Given the description of an element on the screen output the (x, y) to click on. 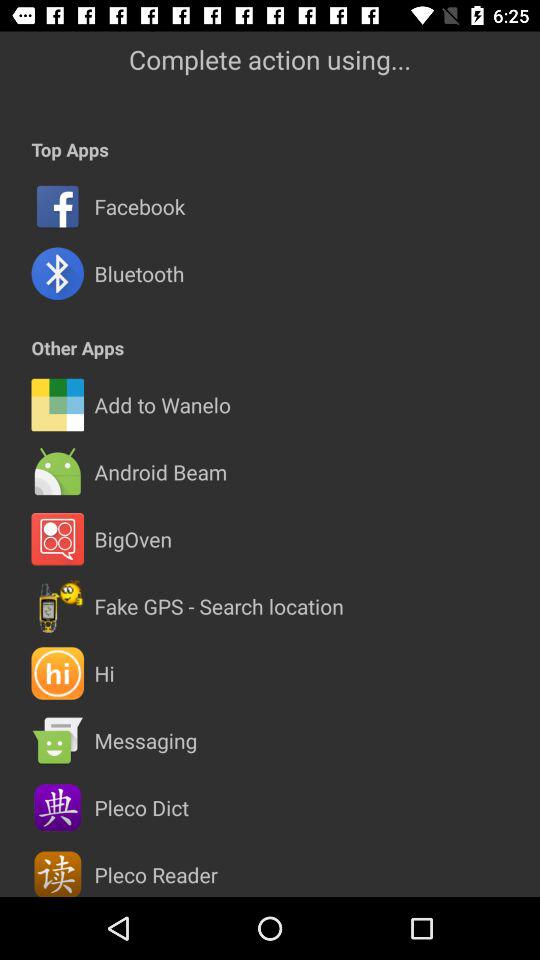
flip until messaging (145, 740)
